Given the description of an element on the screen output the (x, y) to click on. 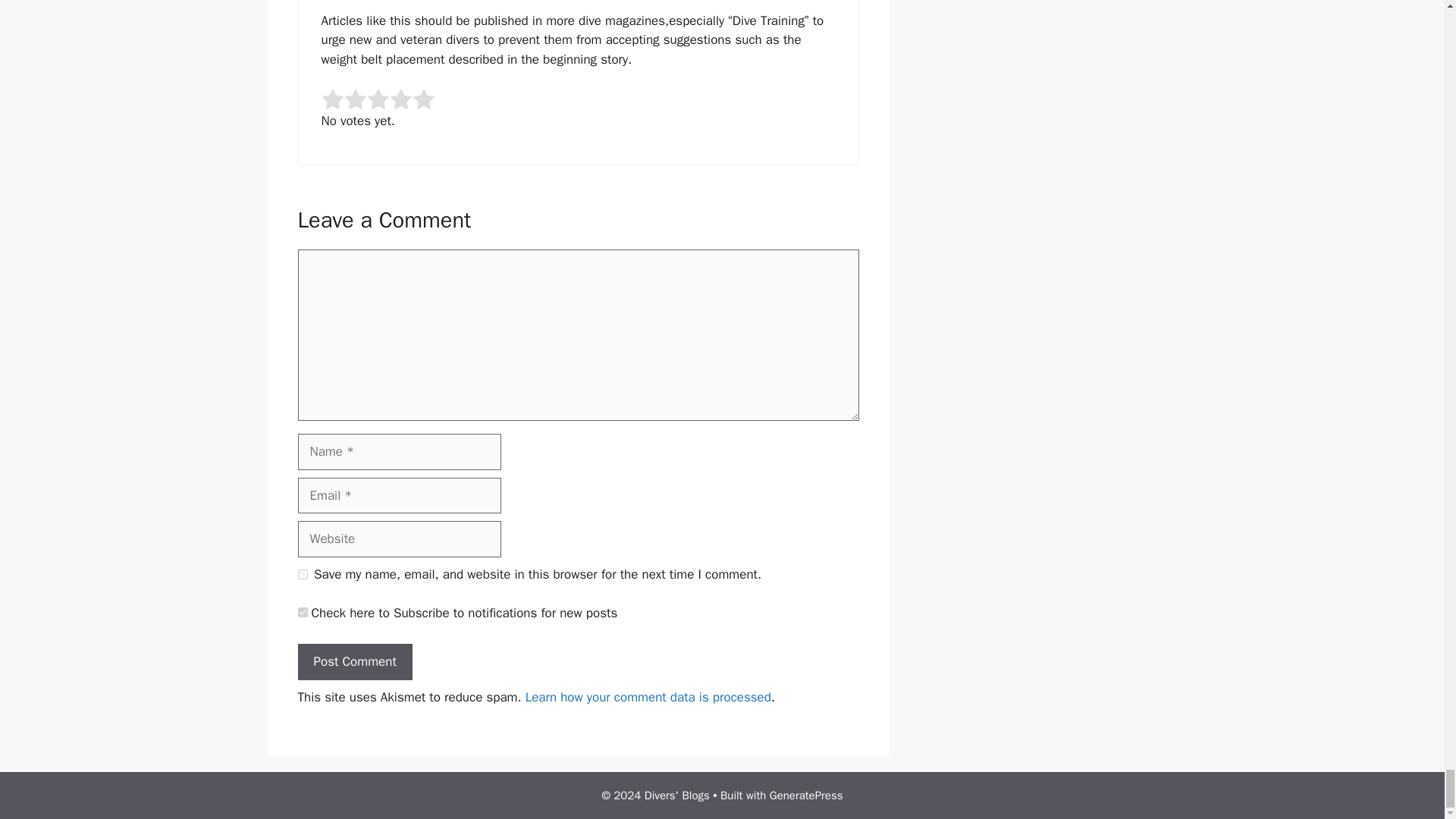
Post Comment (354, 661)
1 (302, 612)
yes (302, 574)
